Given the description of an element on the screen output the (x, y) to click on. 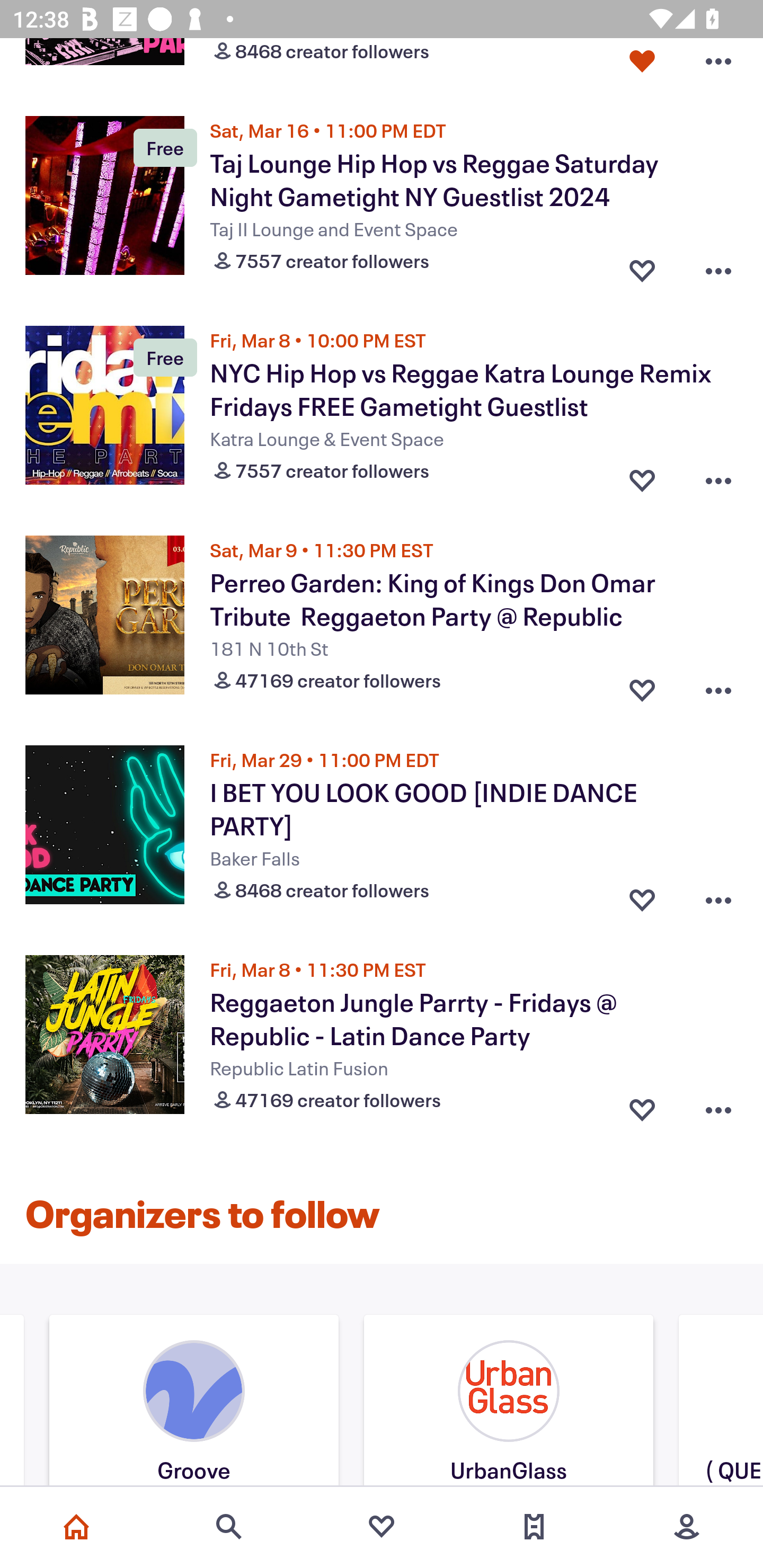
Favorite button (642, 63)
Overflow menu button (718, 63)
Favorite button (642, 267)
Overflow menu button (718, 267)
Favorite button (642, 475)
Overflow menu button (718, 475)
Favorite button (642, 685)
Overflow menu button (718, 685)
Favorite button (642, 895)
Overflow menu button (718, 895)
Favorite button (642, 1105)
Overflow menu button (718, 1105)
Organizer's image Groove 4,038 followers (193, 1403)
Organizer's image UrbanGlass 5,940 followers (508, 1403)
Home (76, 1526)
Search events (228, 1526)
Favorites (381, 1526)
Tickets (533, 1526)
More (686, 1526)
